Given the description of an element on the screen output the (x, y) to click on. 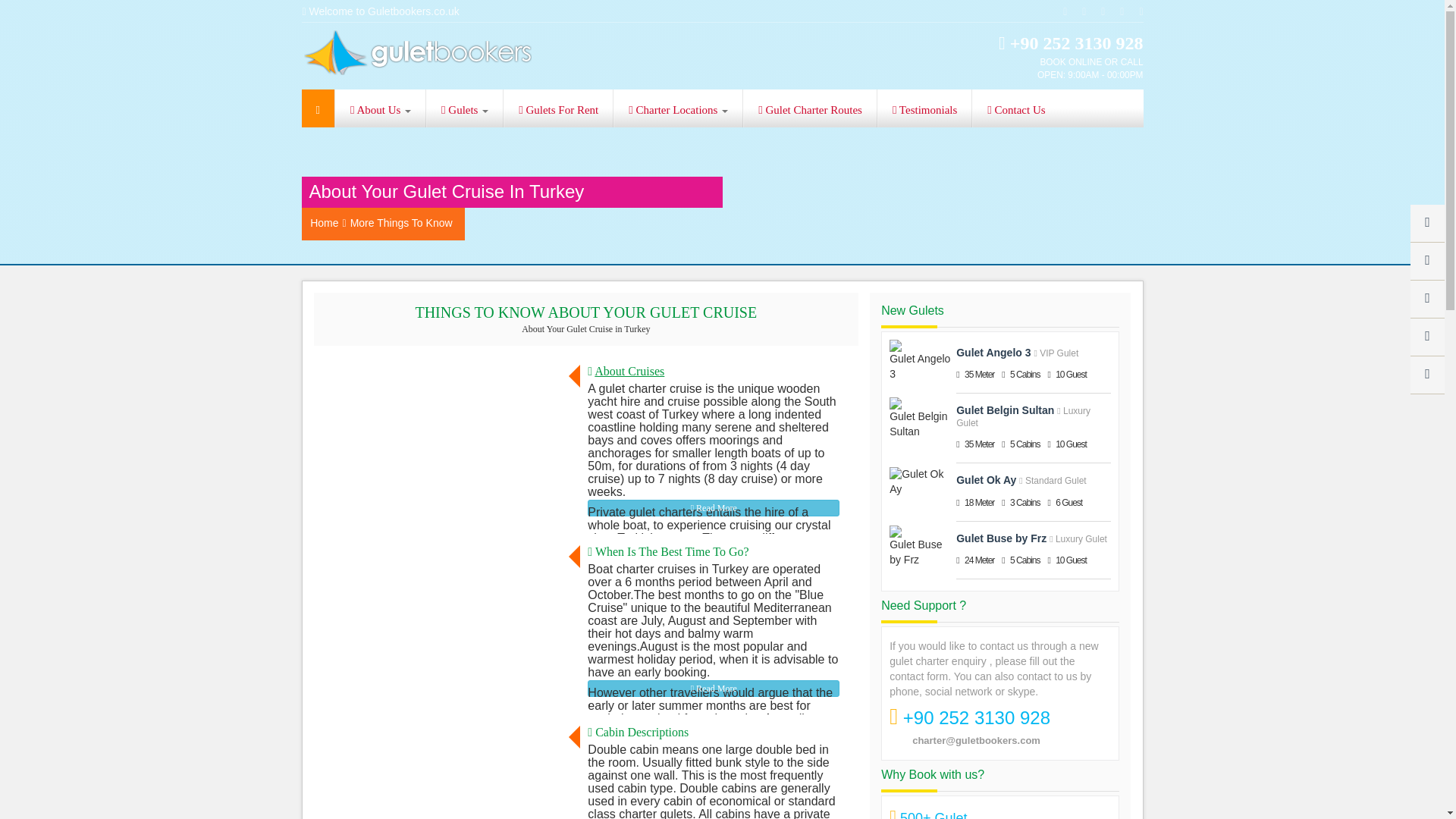
Gulets (464, 108)
About Us (380, 108)
